Given the description of an element on the screen output the (x, y) to click on. 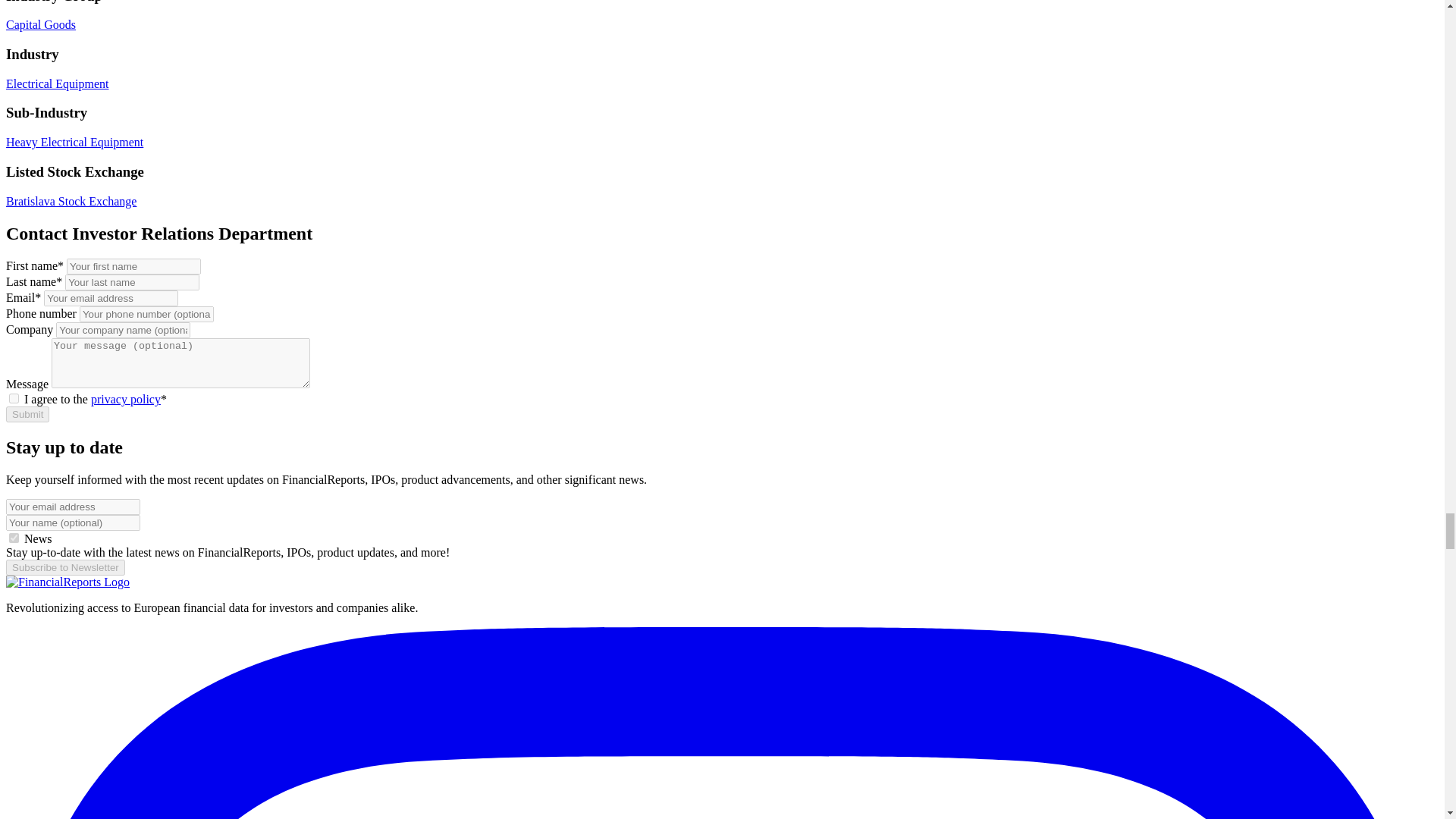
Subscribe to Newsletter (65, 567)
Capital Goods (40, 24)
privacy policy (125, 399)
Heavy Electrical Equipment (73, 141)
9fe07f13-300c-431a-9da9-1749c658df48 (13, 537)
Submit (27, 414)
Bratislava Stock Exchange (70, 201)
Electrical Equipment (57, 83)
on (13, 398)
